Given the description of an element on the screen output the (x, y) to click on. 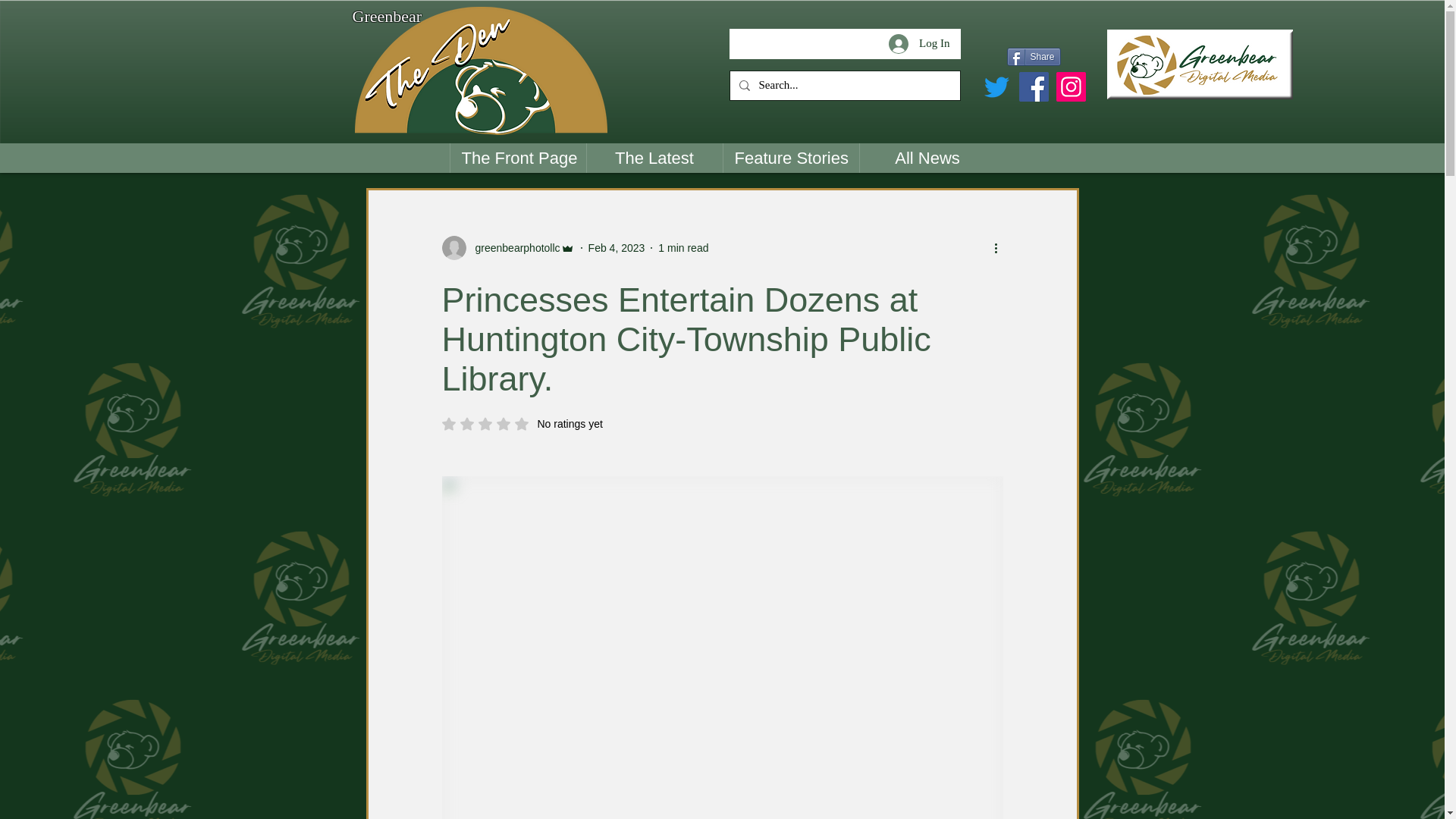
The Latest (653, 157)
Copy of 2 color - Stationary - Bus Cards (481, 70)
Share (1034, 56)
greenbearphotollc (512, 247)
Feb 4, 2023 (616, 246)
All News (926, 157)
The Front Page (516, 157)
Share (1034, 56)
Wix Weather (663, 57)
1 min read (521, 423)
Log In (682, 246)
greenbearphotollc (918, 43)
